Given the description of an element on the screen output the (x, y) to click on. 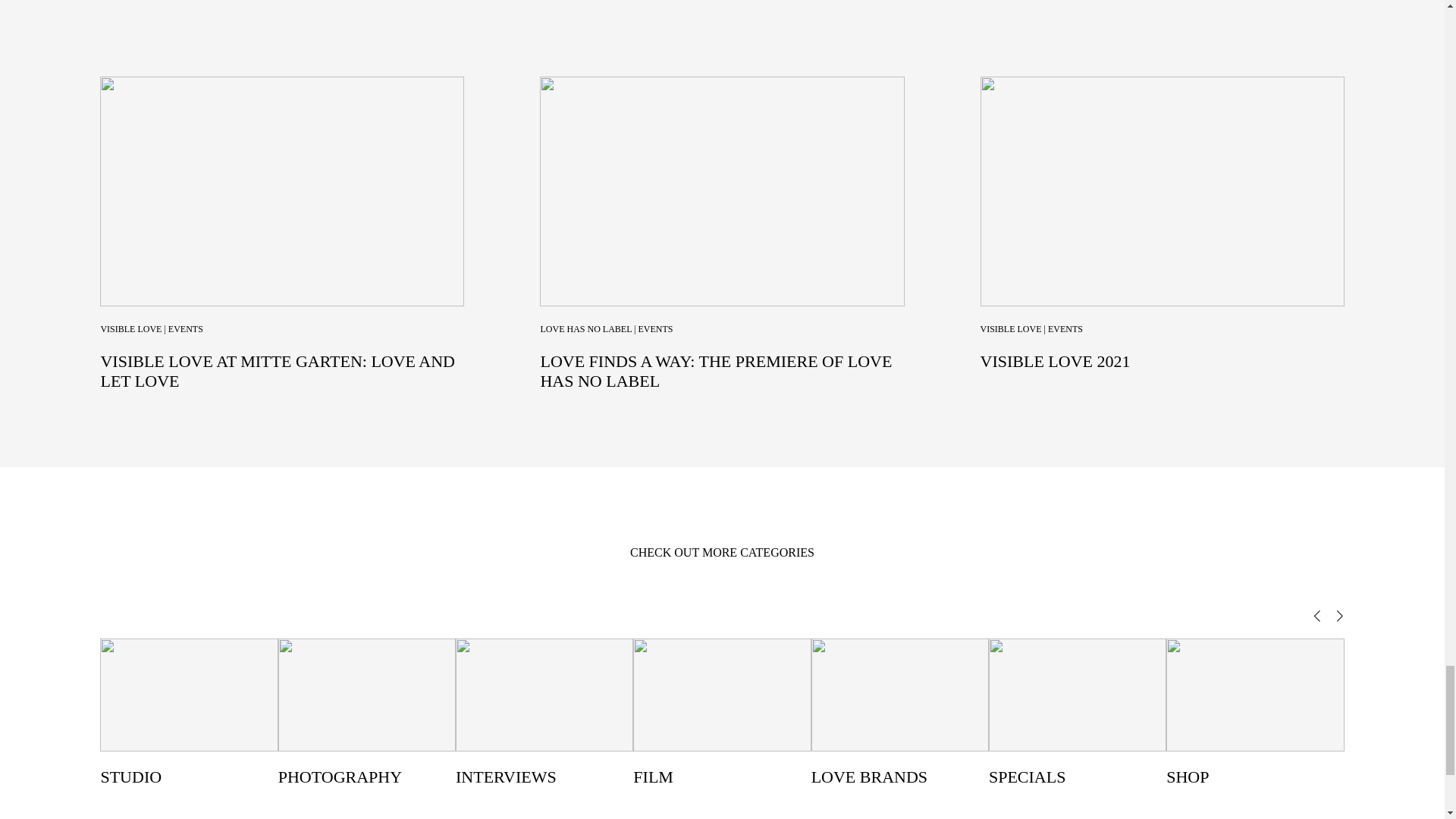
VISIBLE LOVE (130, 328)
EVENTS (185, 328)
VISIBLE LOVE AT MITTE GARTEN: LOVE AND LET LOVE (277, 371)
